Given the description of an element on the screen output the (x, y) to click on. 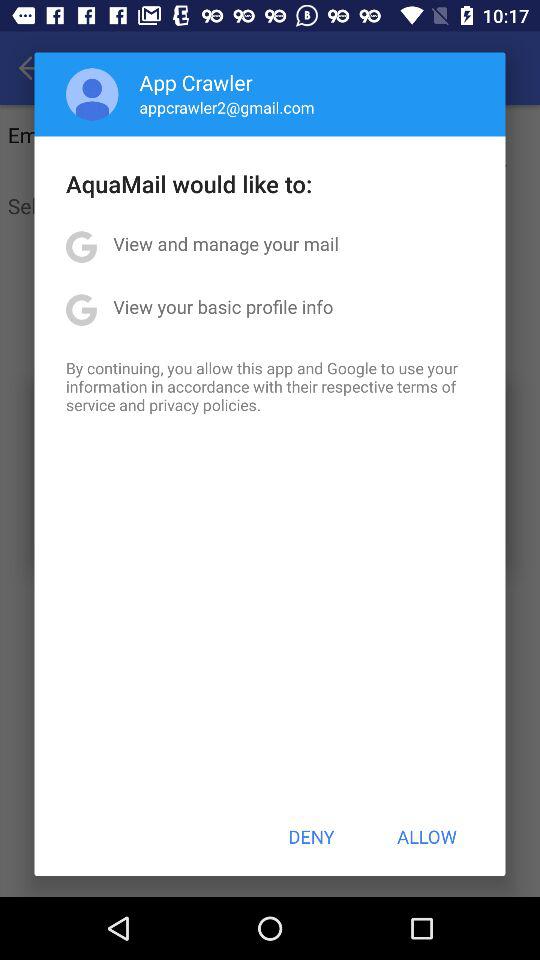
press button next to allow icon (311, 836)
